Given the description of an element on the screen output the (x, y) to click on. 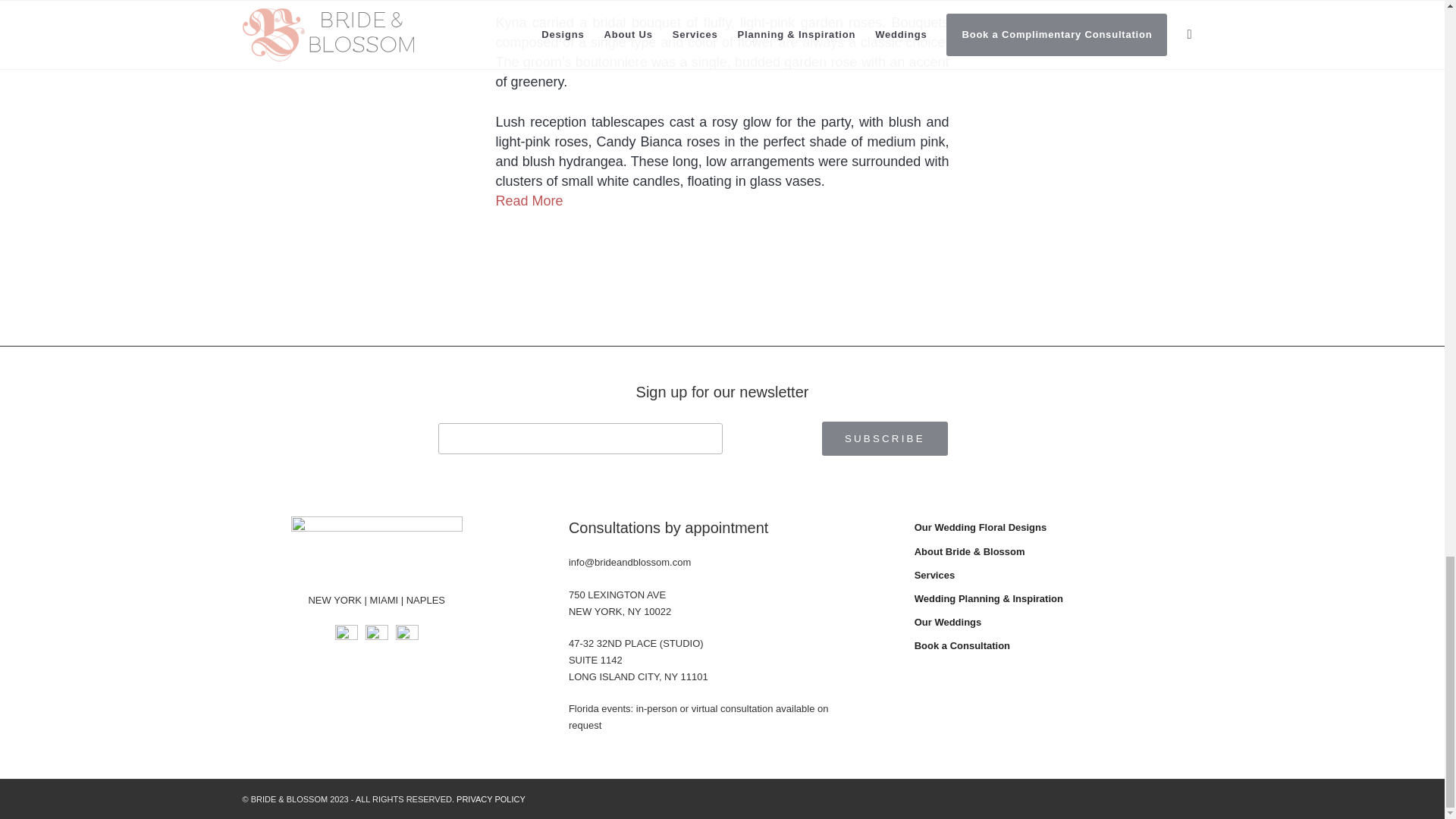
Our Wedding Floral Designs (1058, 527)
Our Weddings (1058, 622)
Subscribe (884, 438)
Pinterest (407, 635)
PRIVACY POLICY (491, 798)
Read More (529, 200)
Instagram (376, 635)
Facebook (346, 635)
Services (1058, 576)
Subscribe (884, 438)
